Given the description of an element on the screen output the (x, y) to click on. 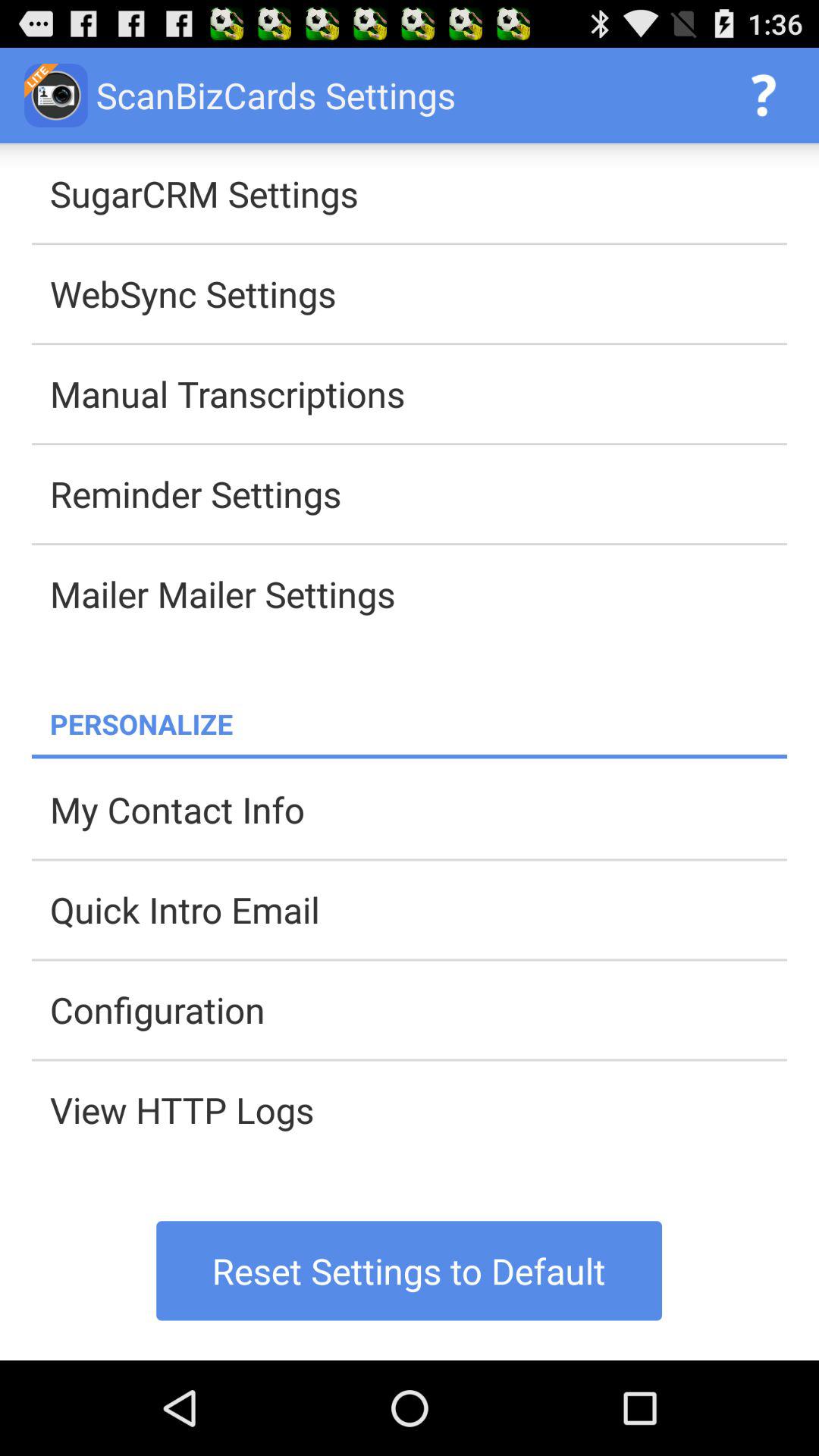
turn on the personalize (418, 723)
